Given the description of an element on the screen output the (x, y) to click on. 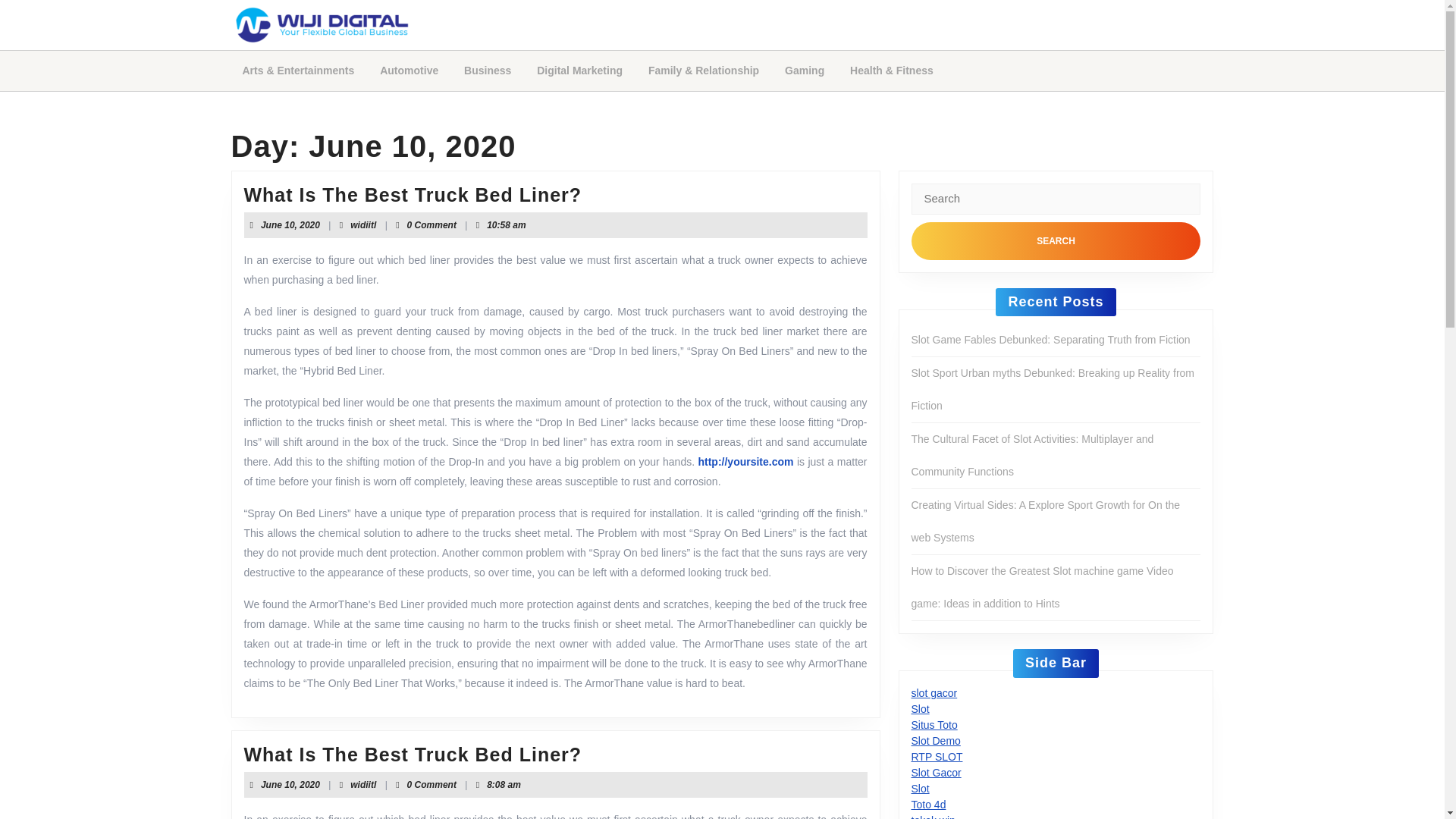
Slot Game Fables Debunked: Separating Truth from Fiction (290, 784)
Search (1051, 339)
Digital Marketing (1056, 240)
tokek win (579, 70)
